Given the description of an element on the screen output the (x, y) to click on. 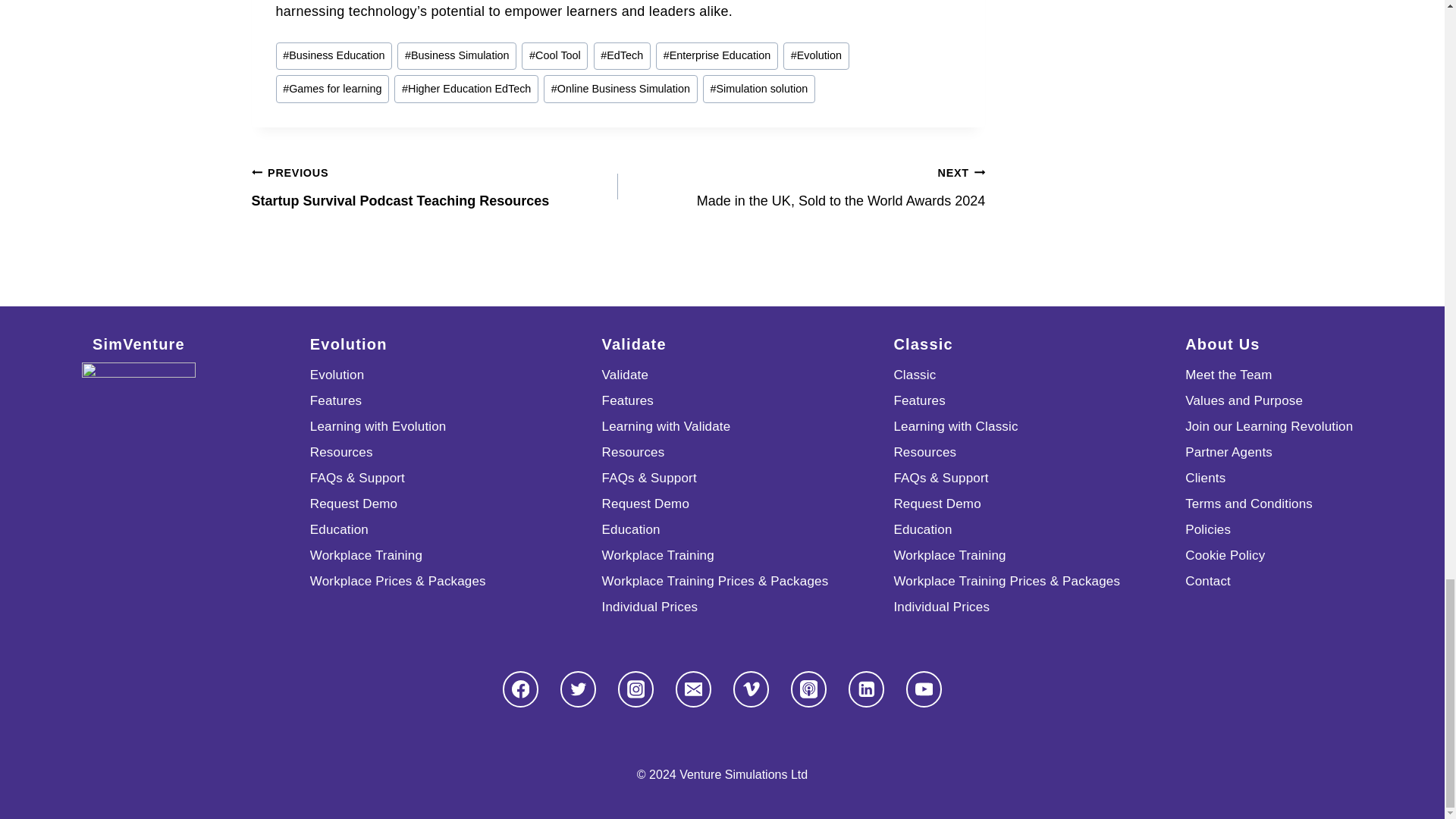
Higher Education EdTech (466, 89)
Business Simulation (456, 56)
Games for learning (333, 89)
Cool Tool (554, 56)
Enterprise Education (716, 56)
Online Business Simulation (620, 89)
SimVenture (138, 418)
Simulation solution (759, 89)
Business Education (334, 56)
EdTech (622, 56)
Evolution (815, 56)
